Given the description of an element on the screen output the (x, y) to click on. 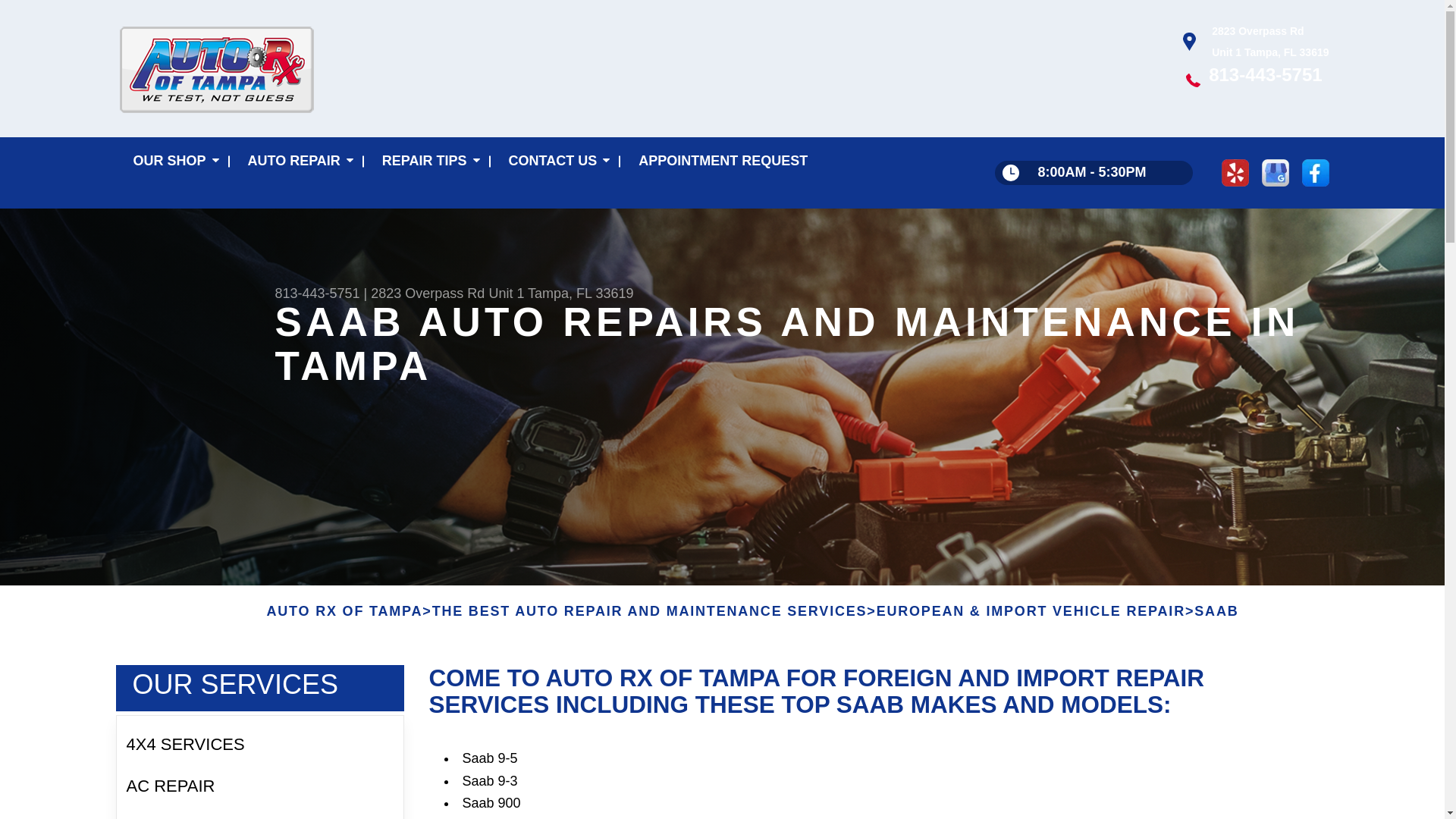
2823 Overpass Rd Unit 1 (447, 293)
CONTACT US (556, 161)
Tampa, FL 33619 (580, 293)
813-443-5751 (1265, 74)
AUTO REPAIR (297, 161)
AUTO RX OF TAMPA (344, 611)
APPOINTMENT REQUEST (723, 161)
813-443-5751 (317, 293)
OUR SHOP (172, 161)
8:00AM - 5:30PM (1093, 172)
